Given the description of an element on the screen output the (x, y) to click on. 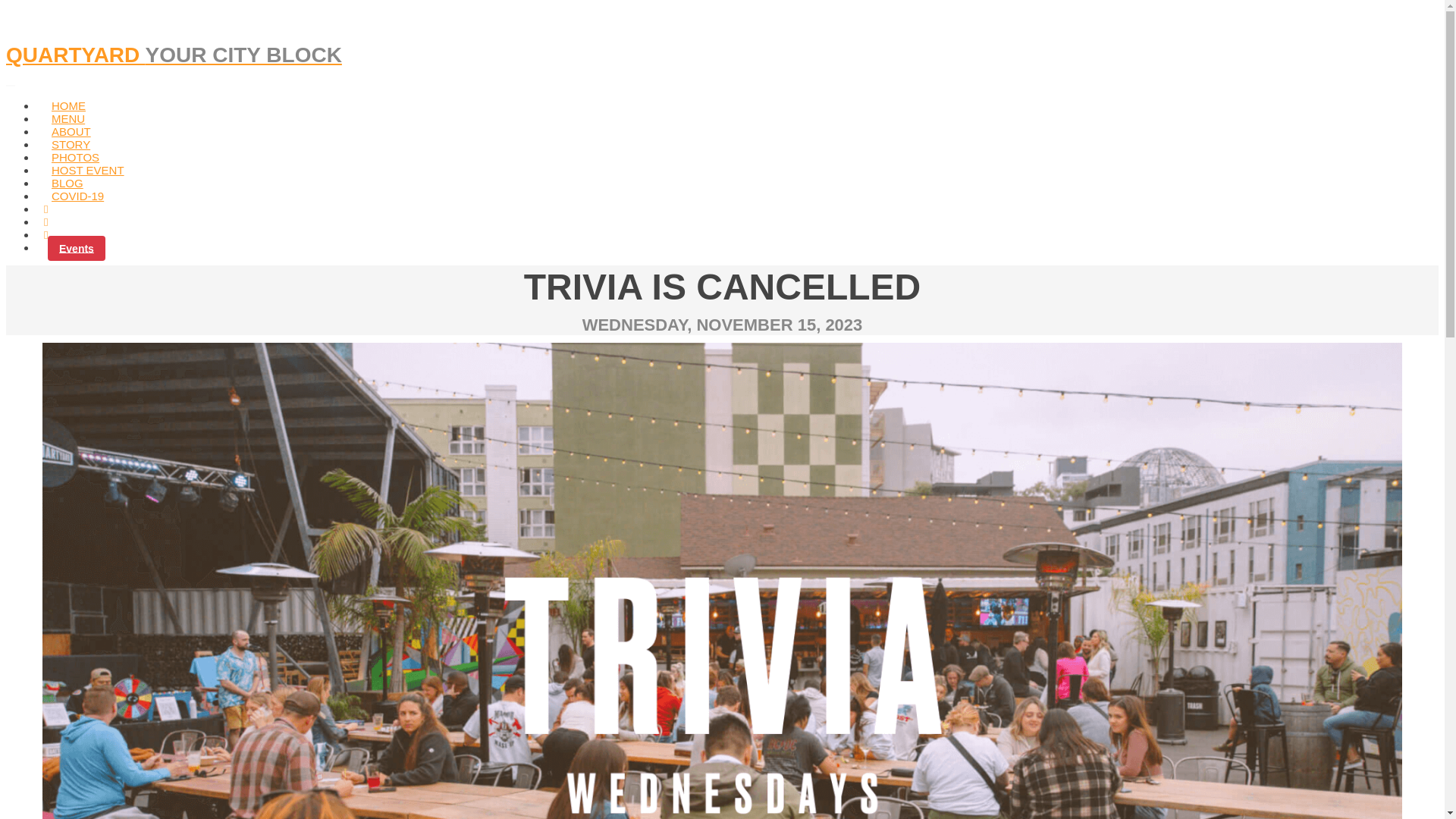
Instagram (45, 221)
STORY (70, 144)
Twitter (45, 234)
HOME (68, 105)
MENU (68, 118)
Events (76, 247)
HOST EVENT (87, 169)
COVID-19 (77, 195)
ABOUT (71, 131)
BLOG (67, 182)
Facebook (45, 208)
PHOTOS (75, 156)
